Given the description of an element on the screen output the (x, y) to click on. 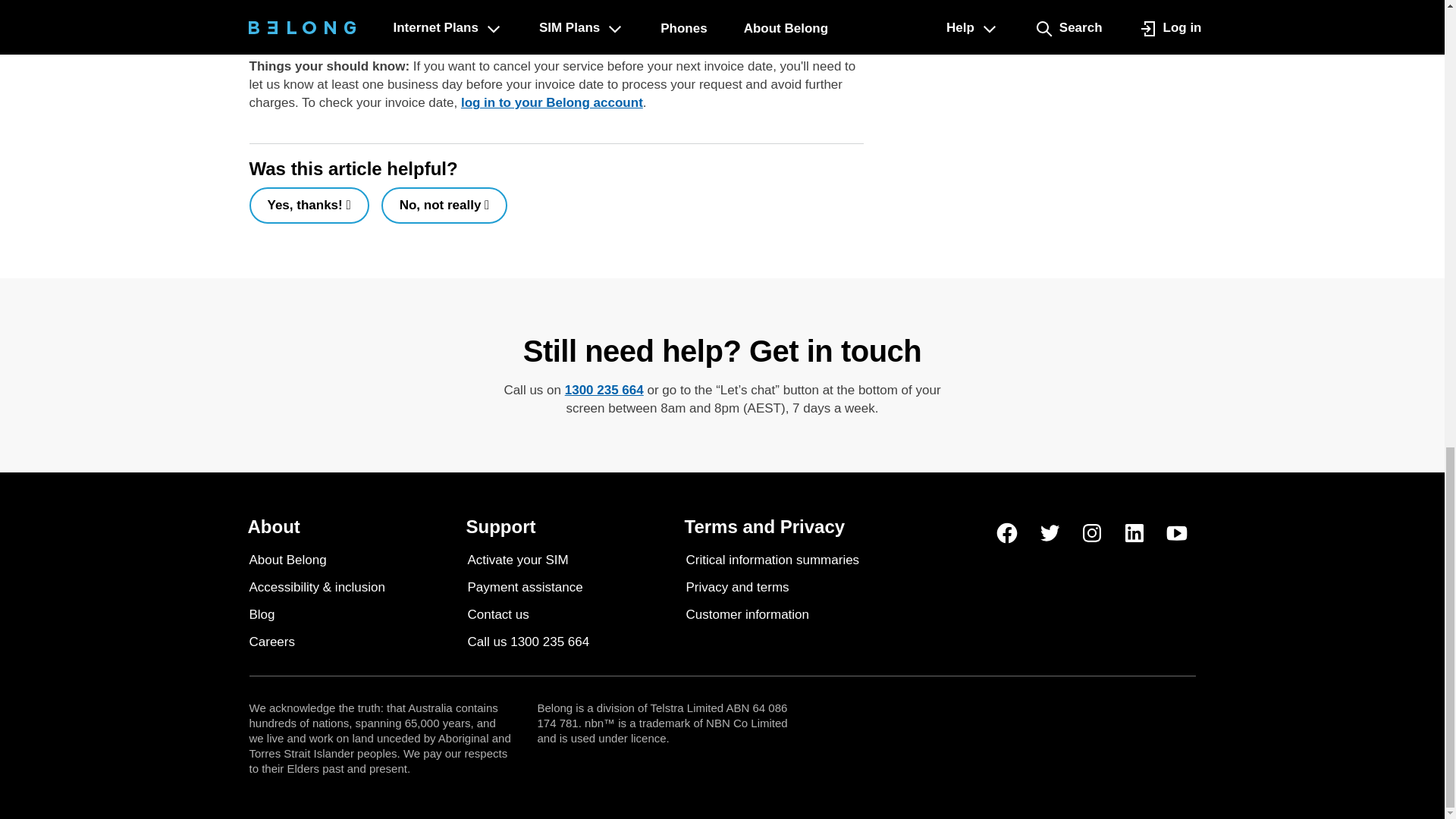
log in to your Belong account (552, 103)
Careers (271, 641)
Contact us (497, 614)
Critical information summaries (772, 559)
Activate your SIM (517, 559)
1300 235 664 (603, 390)
Call us 1300 235 664 (528, 641)
Payment assistance (524, 586)
Privacy and terms (737, 586)
About Belong (287, 559)
